Given the description of an element on the screen output the (x, y) to click on. 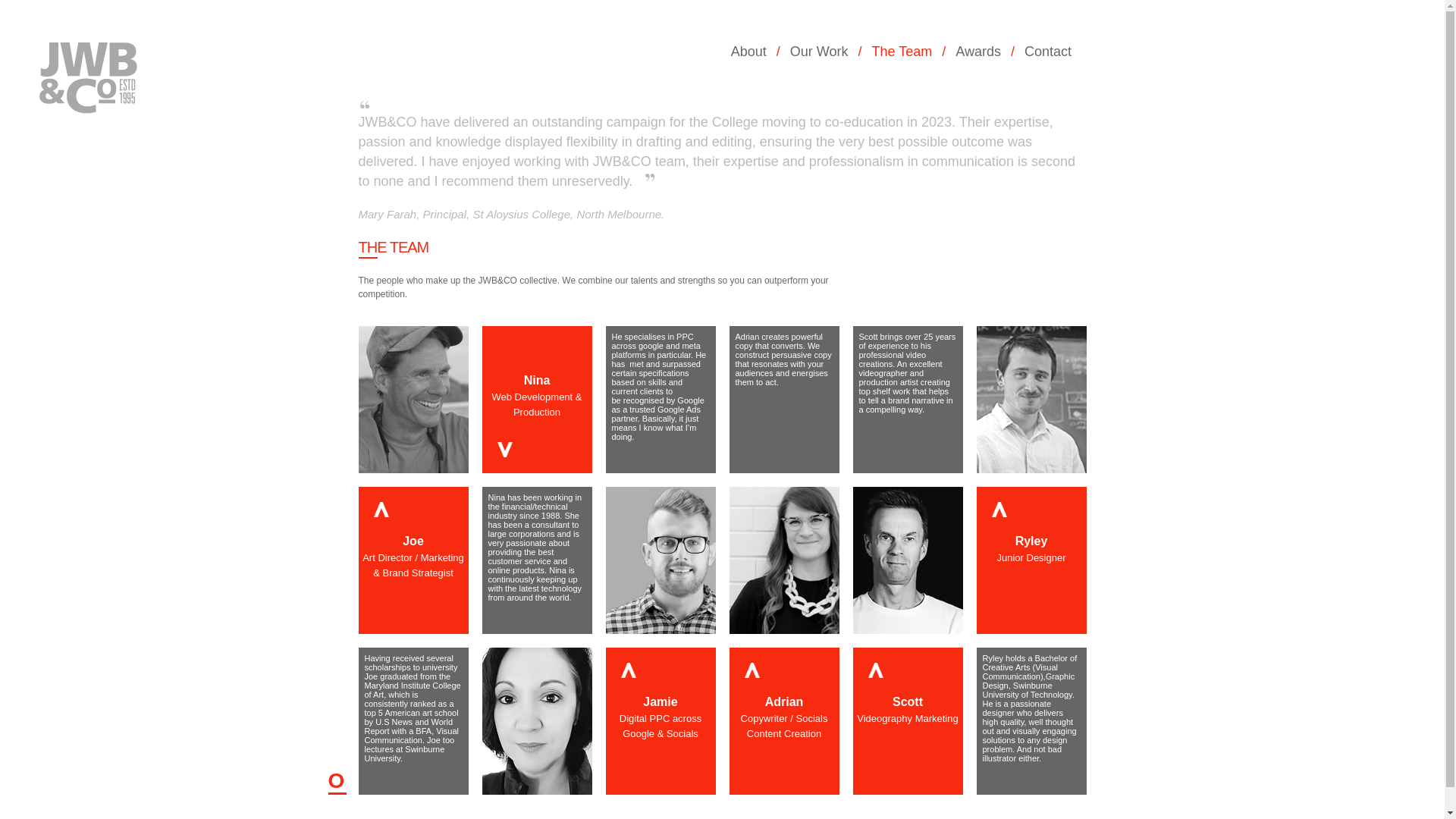
The Team Element type: text (907, 51)
Contact Element type: text (1052, 51)
Awards Element type: text (982, 51)
  Element type: text (88, 101)
About Element type: text (753, 51)
Skip to main content Element type: text (44, 0)
Our Work Element type: text (824, 51)
